Given the description of an element on the screen output the (x, y) to click on. 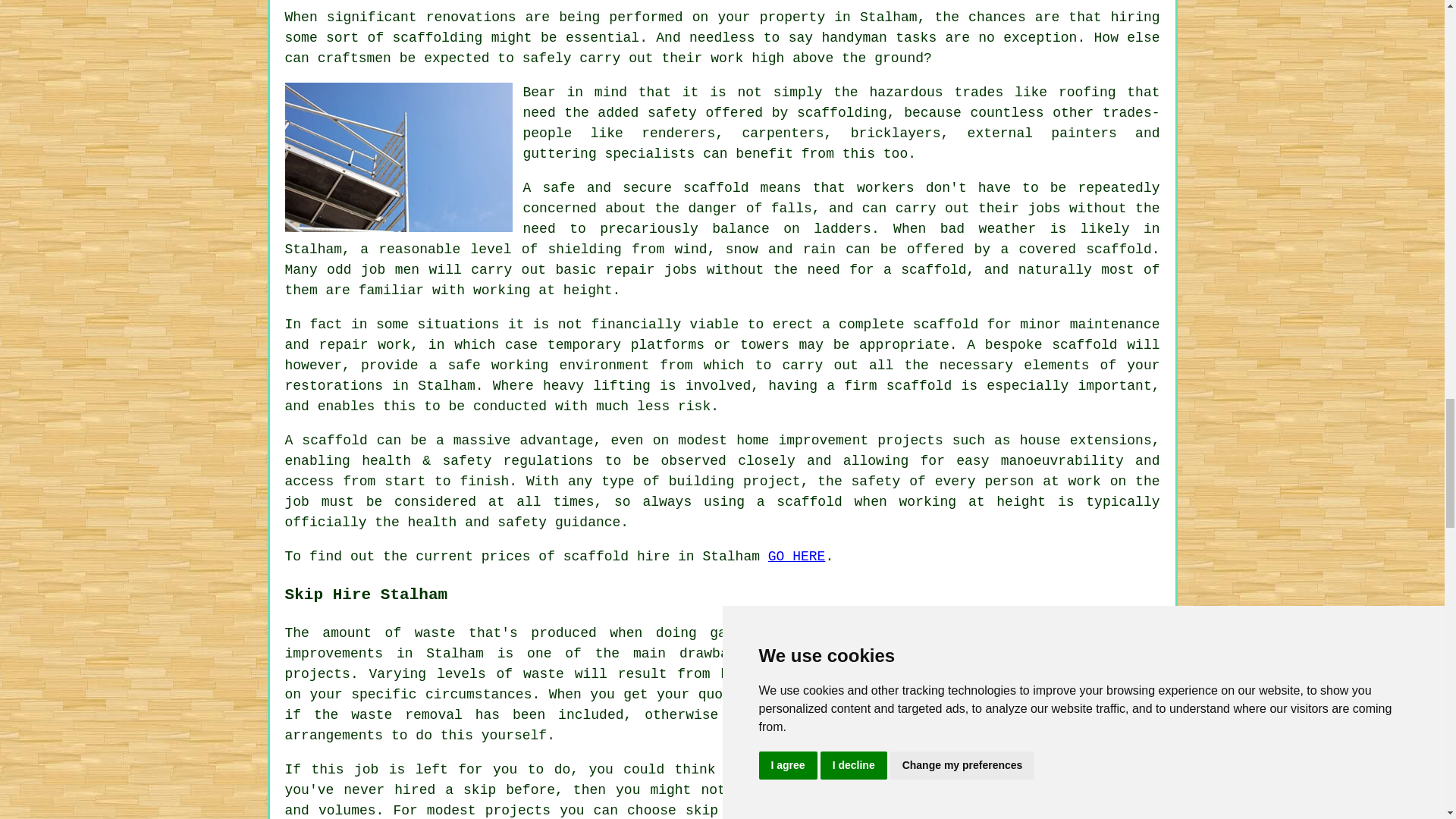
Skip Hire Stalham (1046, 698)
Scaffold Tower Hire Stalham (398, 156)
